Given the description of an element on the screen output the (x, y) to click on. 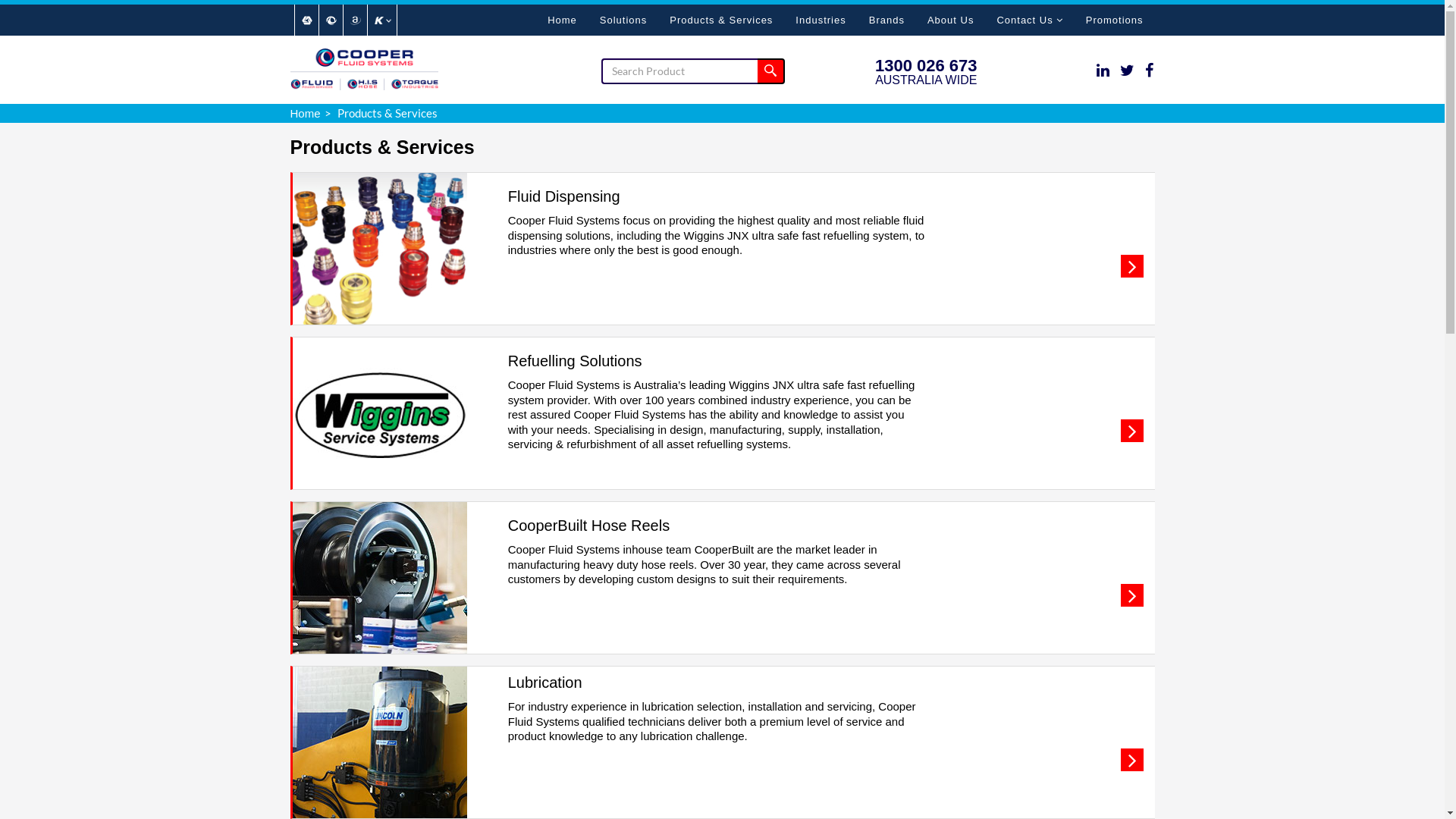
Home Element type: text (562, 20)
About Us Element type: text (950, 20)
Products & Services Element type: text (721, 20)
Promotions Element type: text (1114, 20)
Industries Element type: text (820, 20)
Solutions Element type: text (623, 20)
Home Element type: text (304, 112)
. Element type: text (1131, 763)
Brands Element type: text (886, 20)
. Element type: text (1131, 599)
. Element type: text (1131, 434)
Contact Us Element type: text (1029, 20)
. Element type: text (1131, 269)
